Given the description of an element on the screen output the (x, y) to click on. 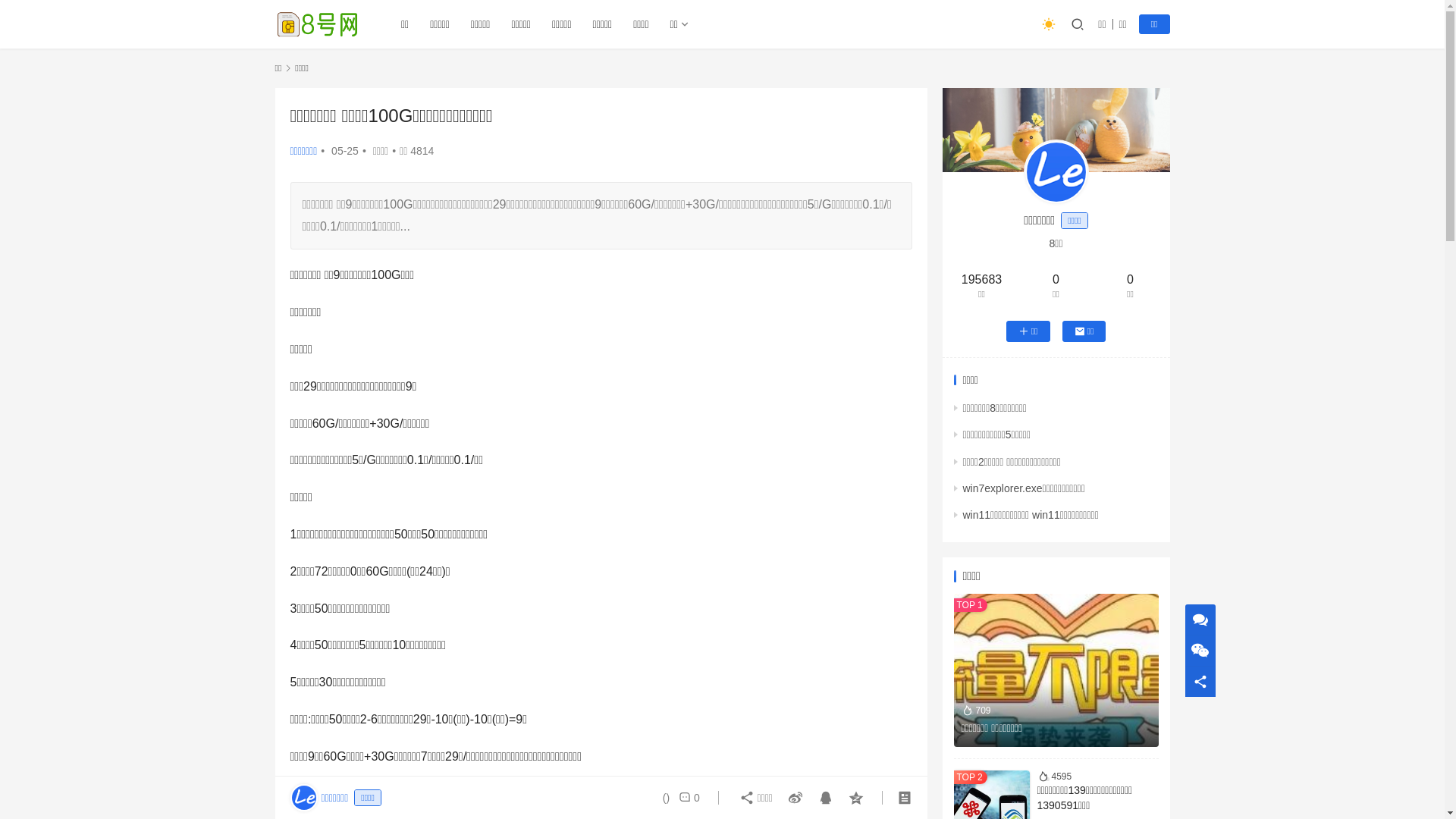
0 Element type: text (685, 797)
